Given the description of an element on the screen output the (x, y) to click on. 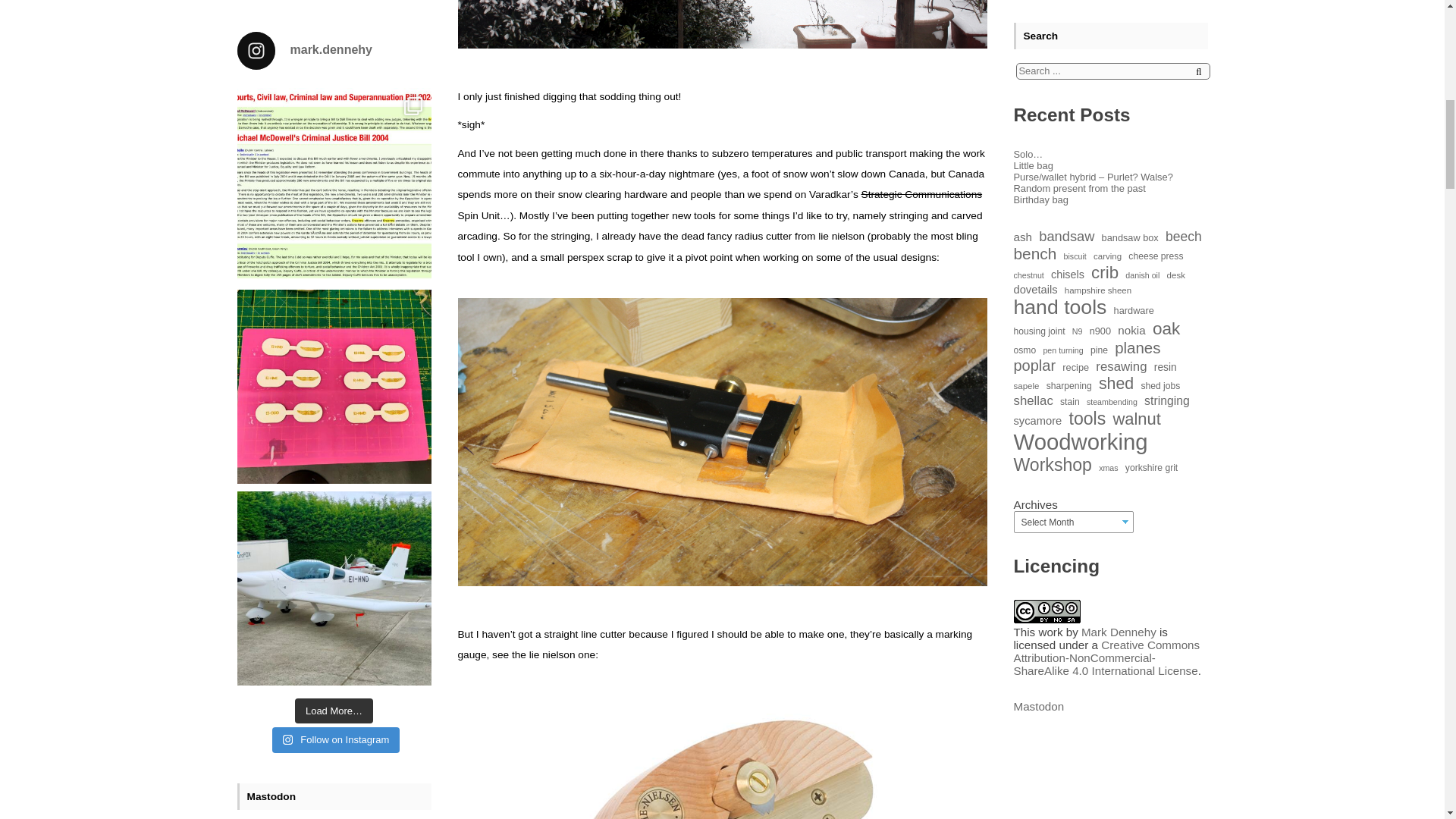
18 July 2024, 1:30 pm UTC (278, 159)
No Title (265, 436)
14 July 2024, 8:25 pm UTC (278, 565)
No Title (265, 136)
Follow on Instagram (336, 39)
16 July 2024, 8:39 pm UTC (278, 459)
No Title (265, 542)
